Given the description of an element on the screen output the (x, y) to click on. 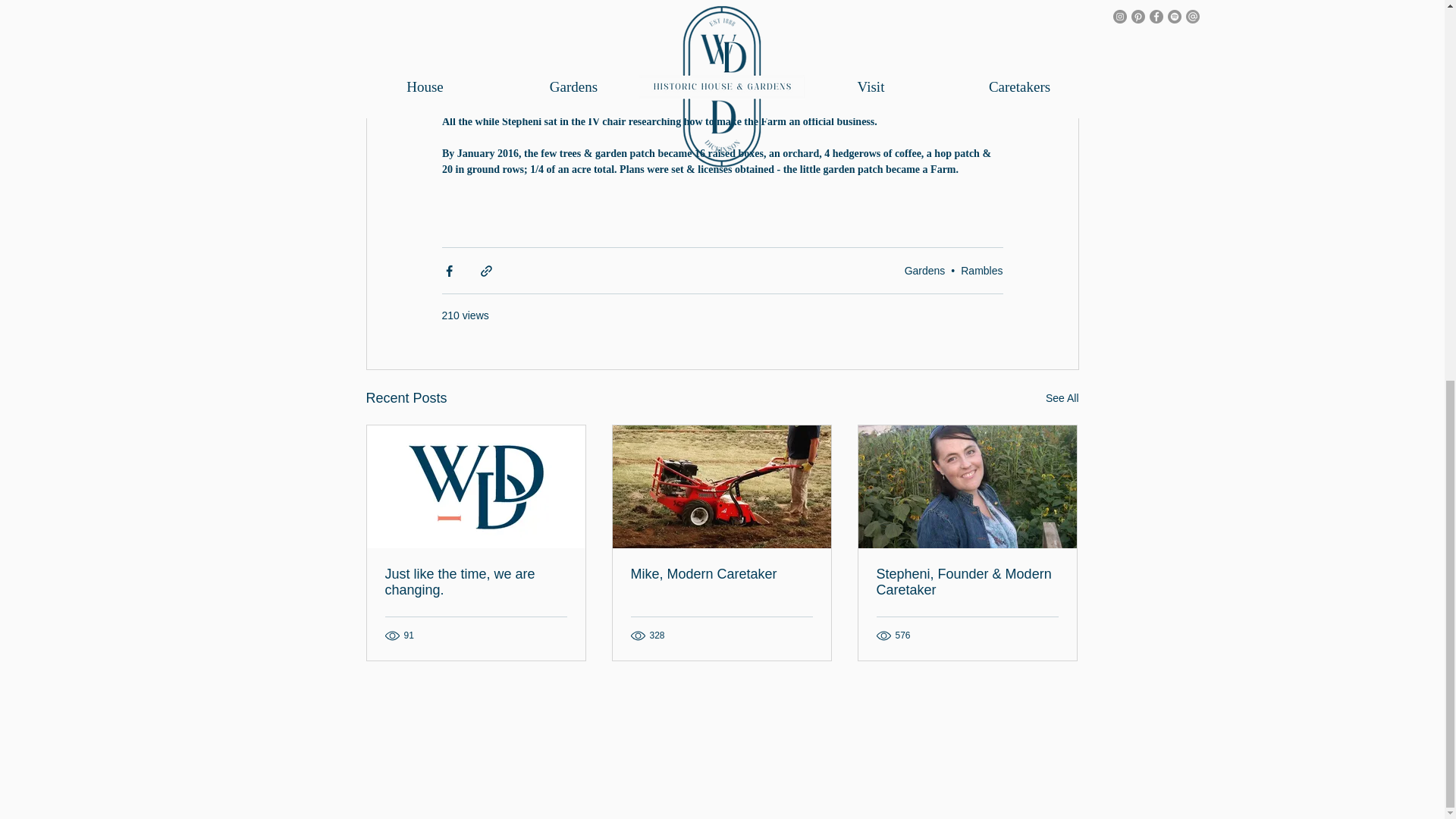
Just like the time, we are changing. (476, 582)
Gardens (924, 269)
Rambles (981, 269)
See All (1061, 398)
Mike, Modern Caretaker (721, 574)
